Given the description of an element on the screen output the (x, y) to click on. 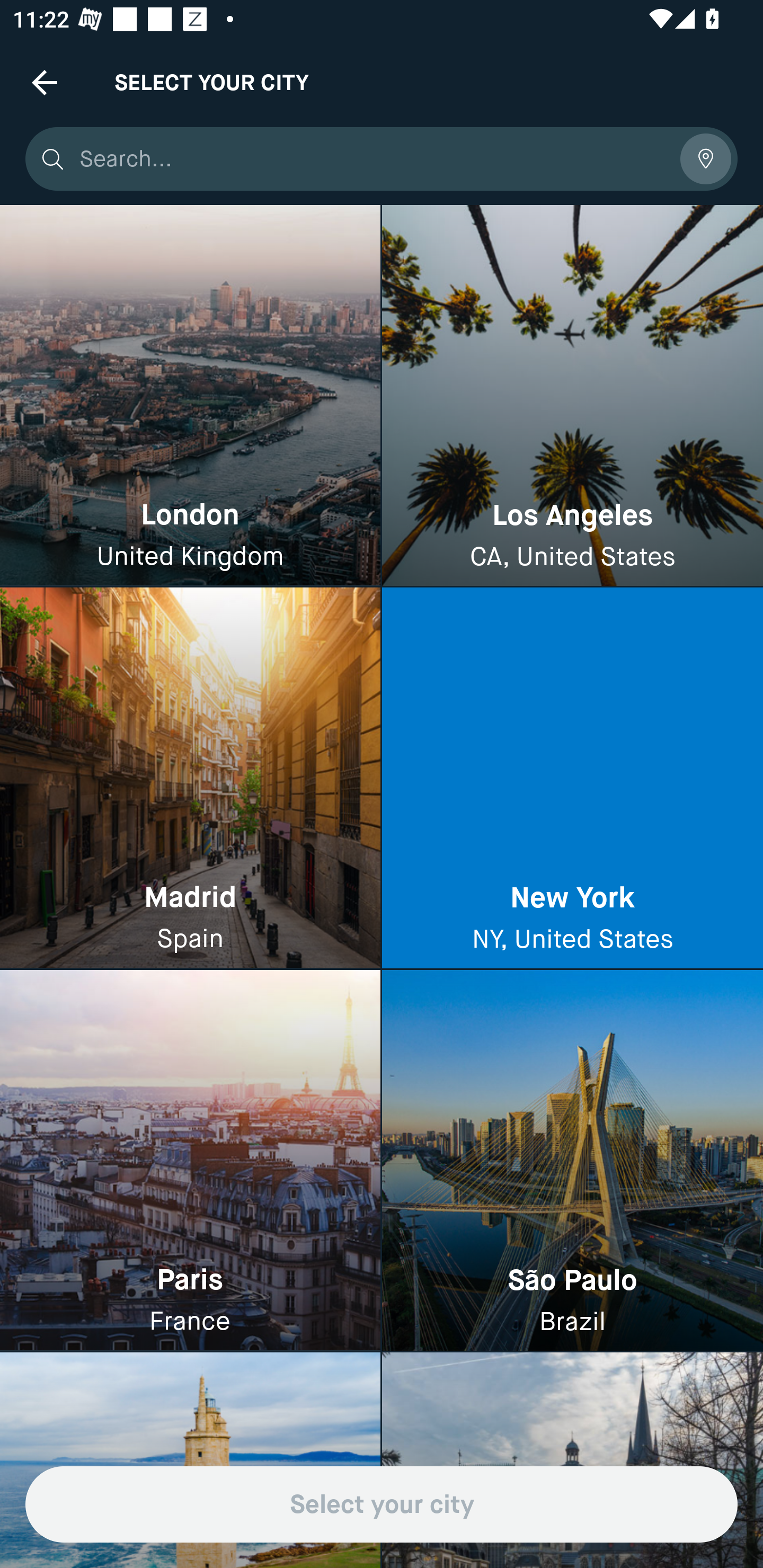
Navigate up (44, 82)
Search... (373, 159)
London United Kingdom (190, 395)
Los Angeles CA, United States (572, 395)
Madrid Spain (190, 778)
New York NY, United States (572, 778)
Paris France (190, 1160)
São Paulo Brazil (572, 1160)
Select your city (381, 1504)
